Given the description of an element on the screen output the (x, y) to click on. 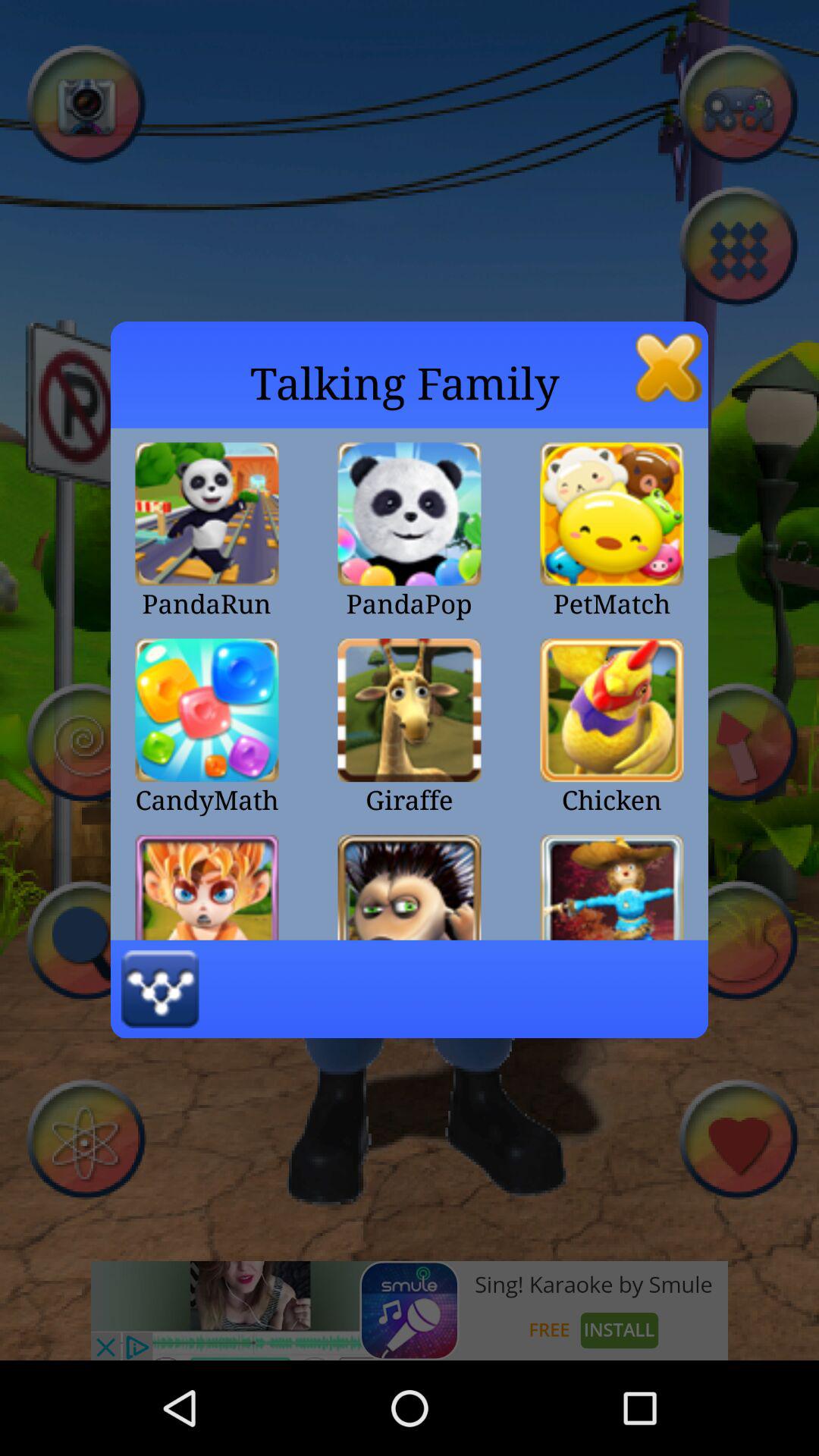
launch icon at the top right corner (668, 367)
